Given the description of an element on the screen output the (x, y) to click on. 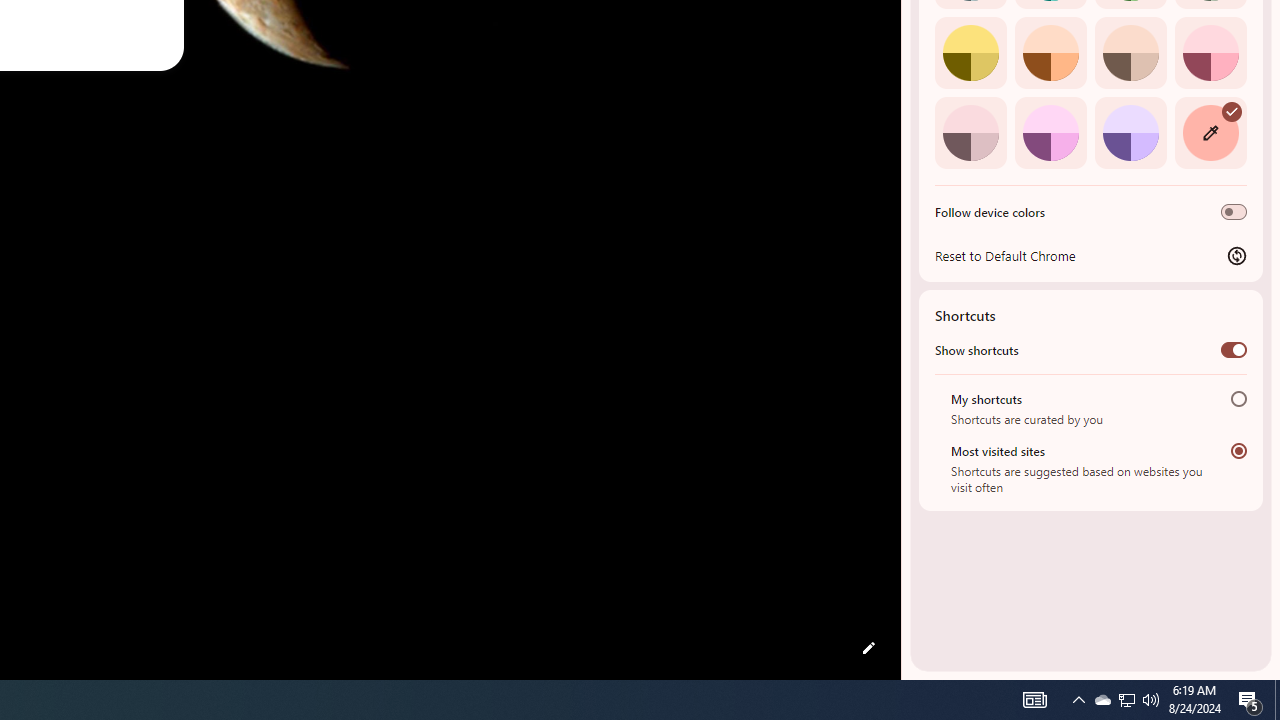
Rose (1210, 52)
Violet (1130, 132)
Reset to Default Chrome (1091, 255)
Apricot (1130, 52)
Custom color (1210, 132)
AutomationID: svg (1231, 110)
Side Panel Resize Handle (905, 39)
Most visited sites (1238, 450)
My shortcuts (1238, 398)
Customize this page (868, 647)
Follow device colors (1233, 211)
Pink (970, 132)
Citron (970, 52)
Show shortcuts (1233, 349)
